Given the description of an element on the screen output the (x, y) to click on. 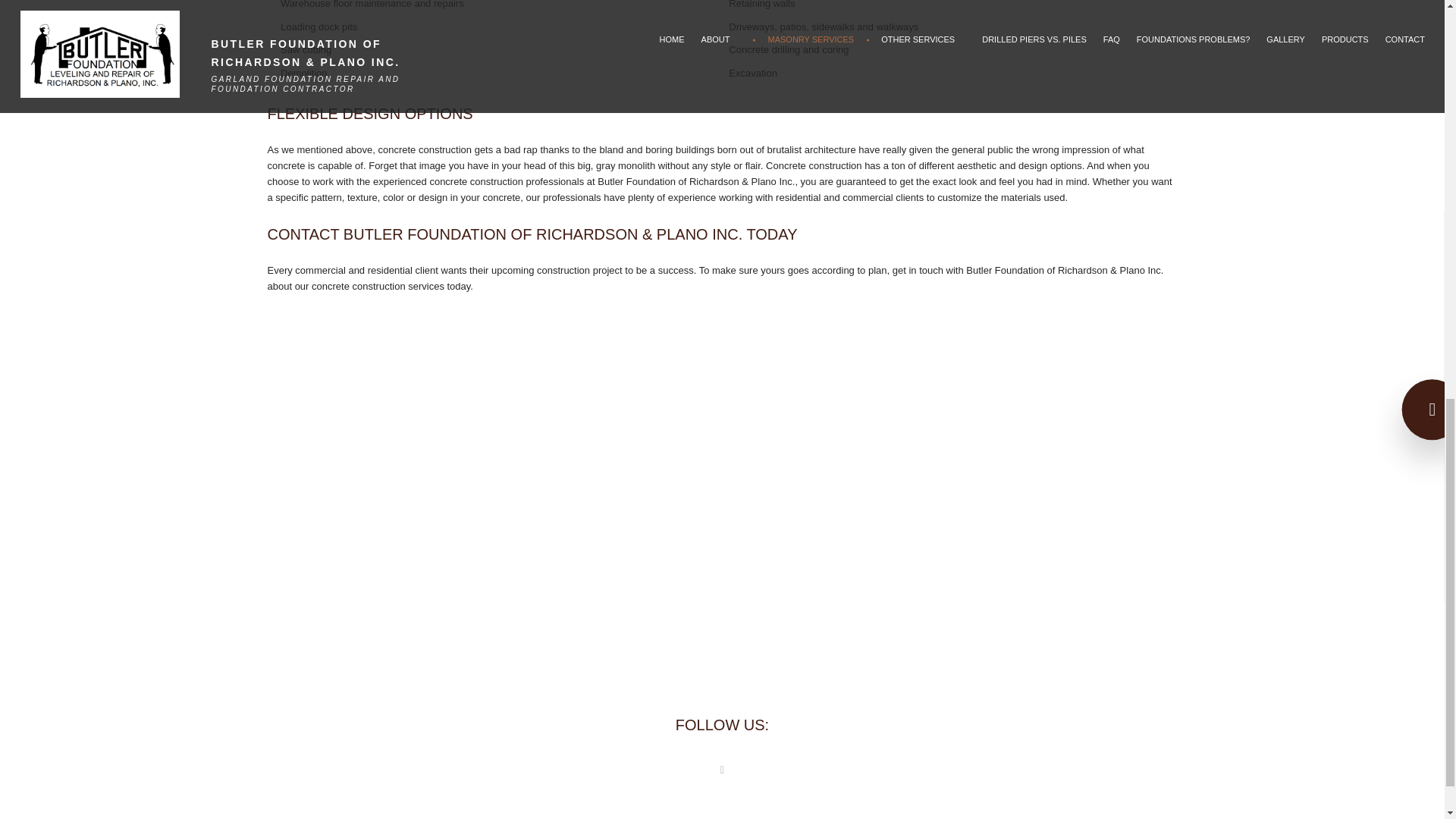
GET IN TOUCH WITH US (722, 542)
Get In Touch With Us (722, 542)
